Given the description of an element on the screen output the (x, y) to click on. 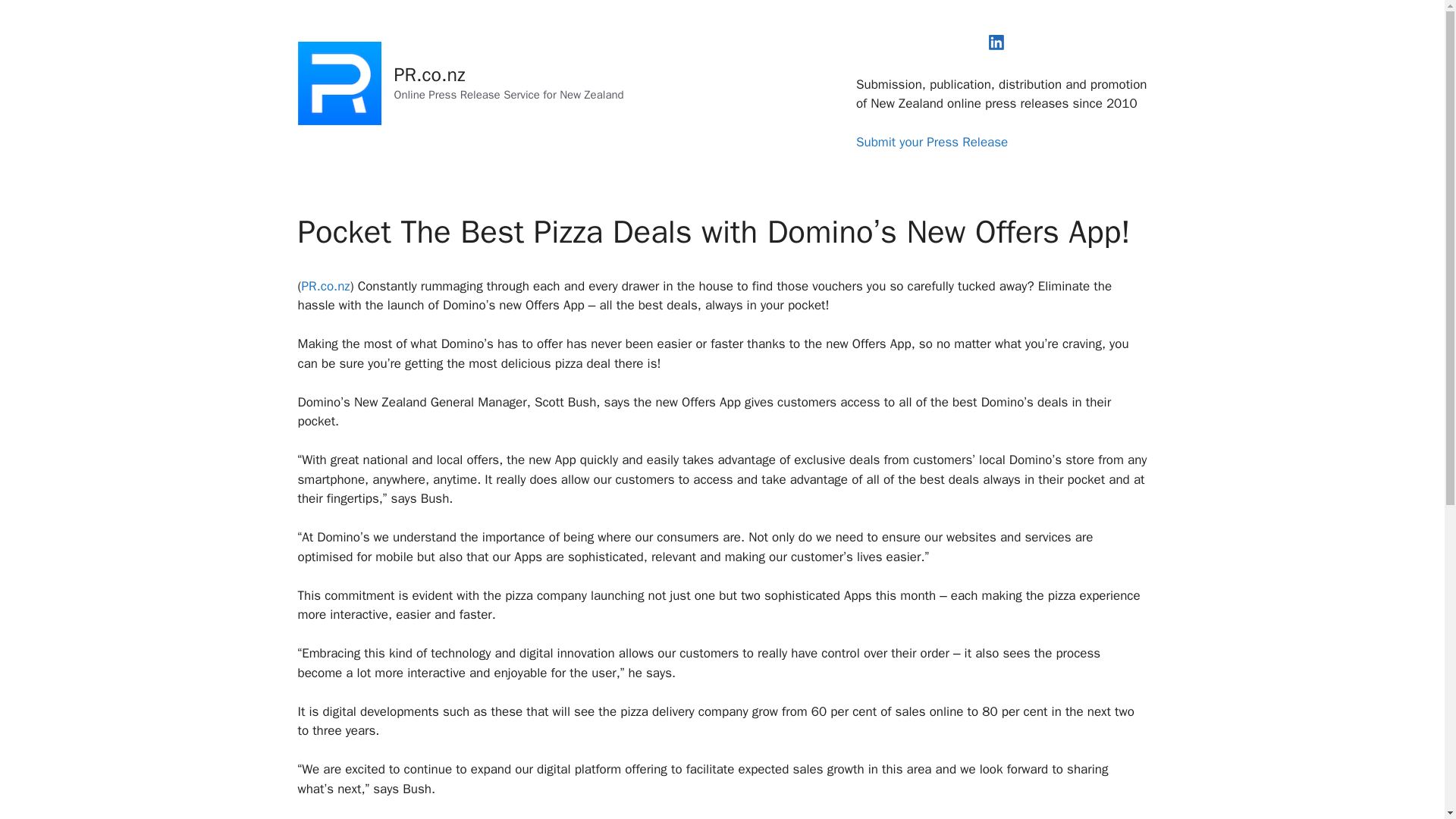
PR.co.nz (325, 286)
PR.co.nz (429, 74)
Submit your Press Release (931, 141)
LinkedIn (996, 42)
